Given the description of an element on the screen output the (x, y) to click on. 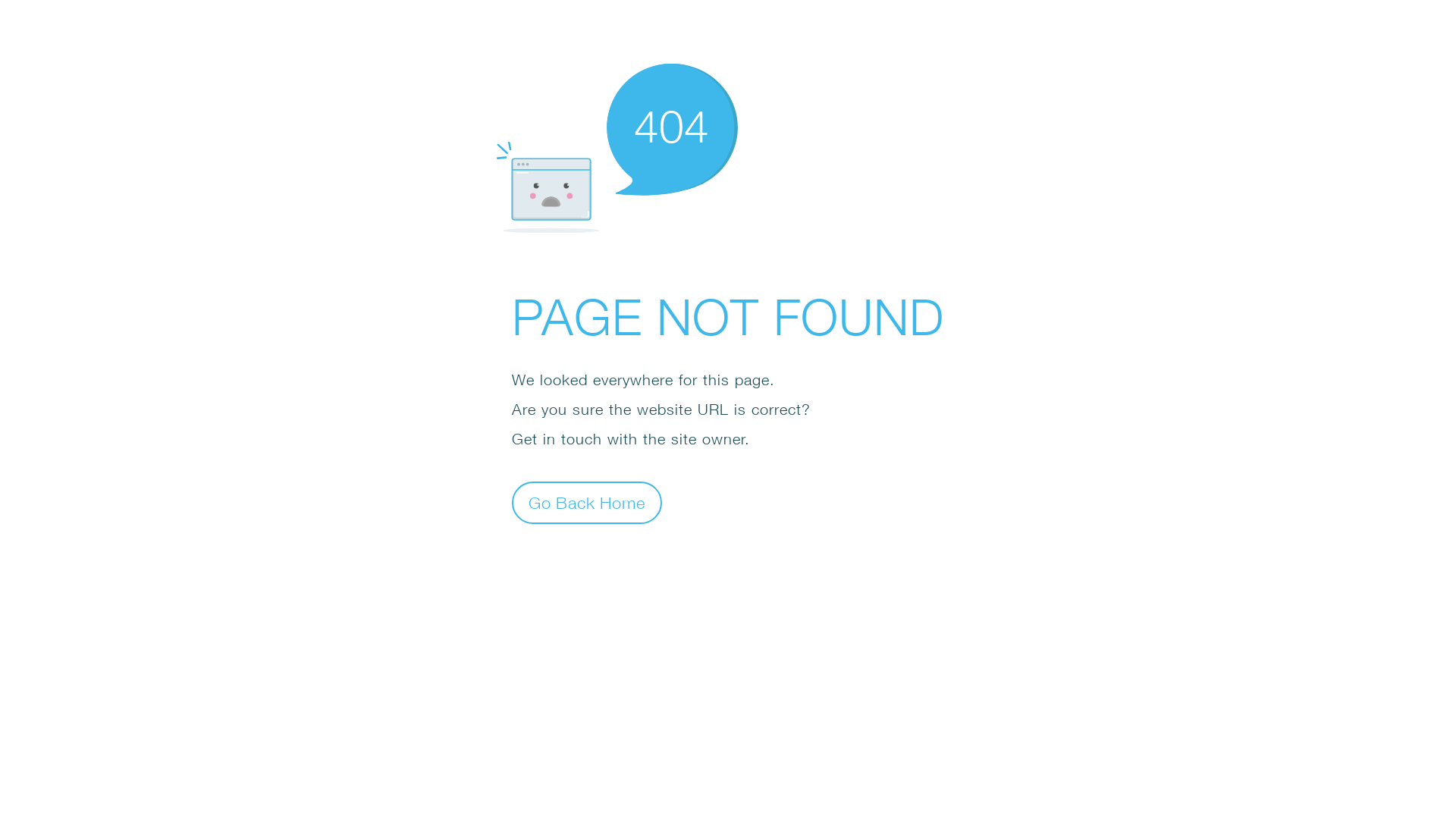
Go Back Home Element type: text (586, 502)
